Given the description of an element on the screen output the (x, y) to click on. 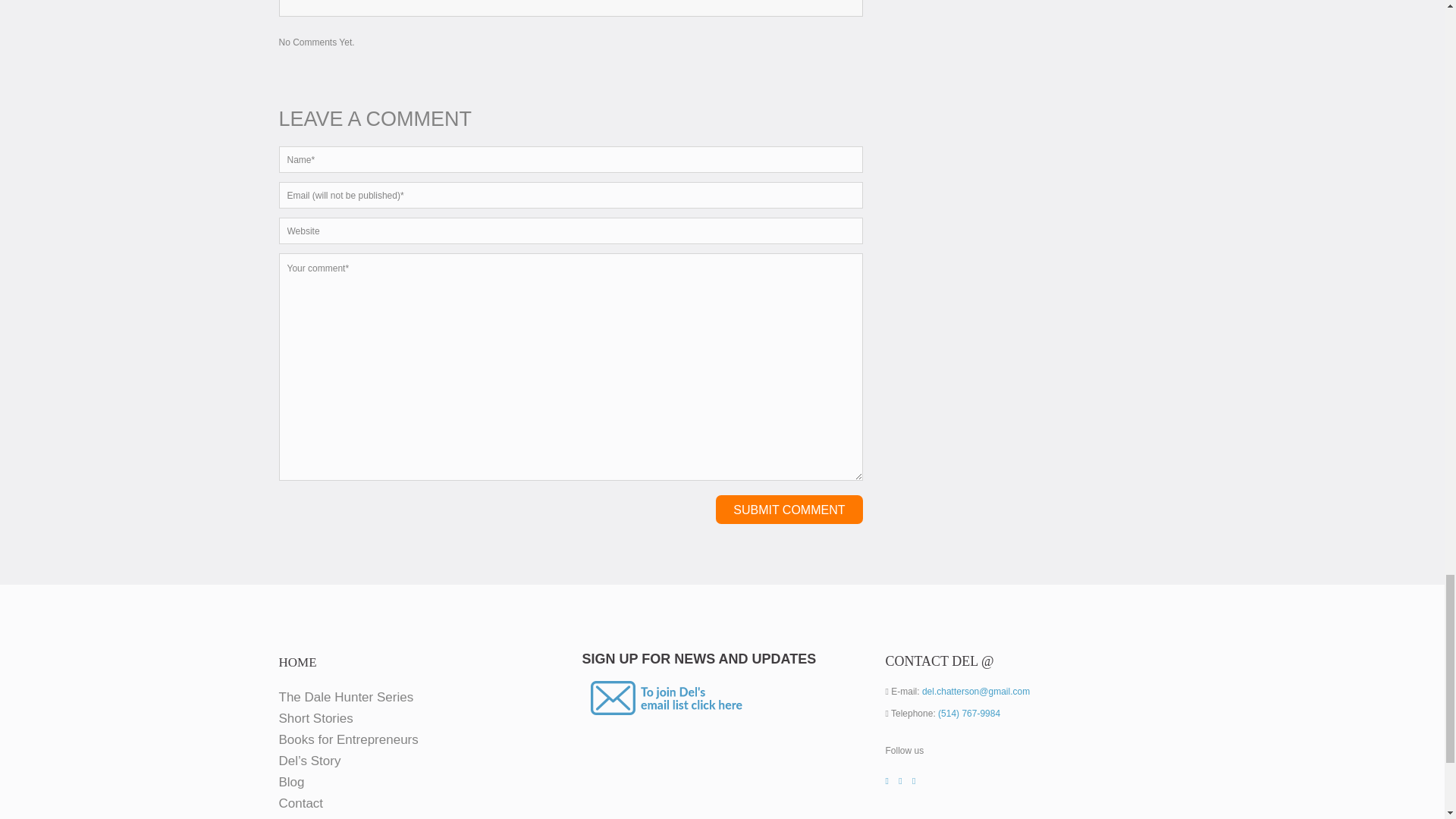
Submit Comment (788, 509)
Website (571, 230)
Submit Comment (788, 509)
